Given the description of an element on the screen output the (x, y) to click on. 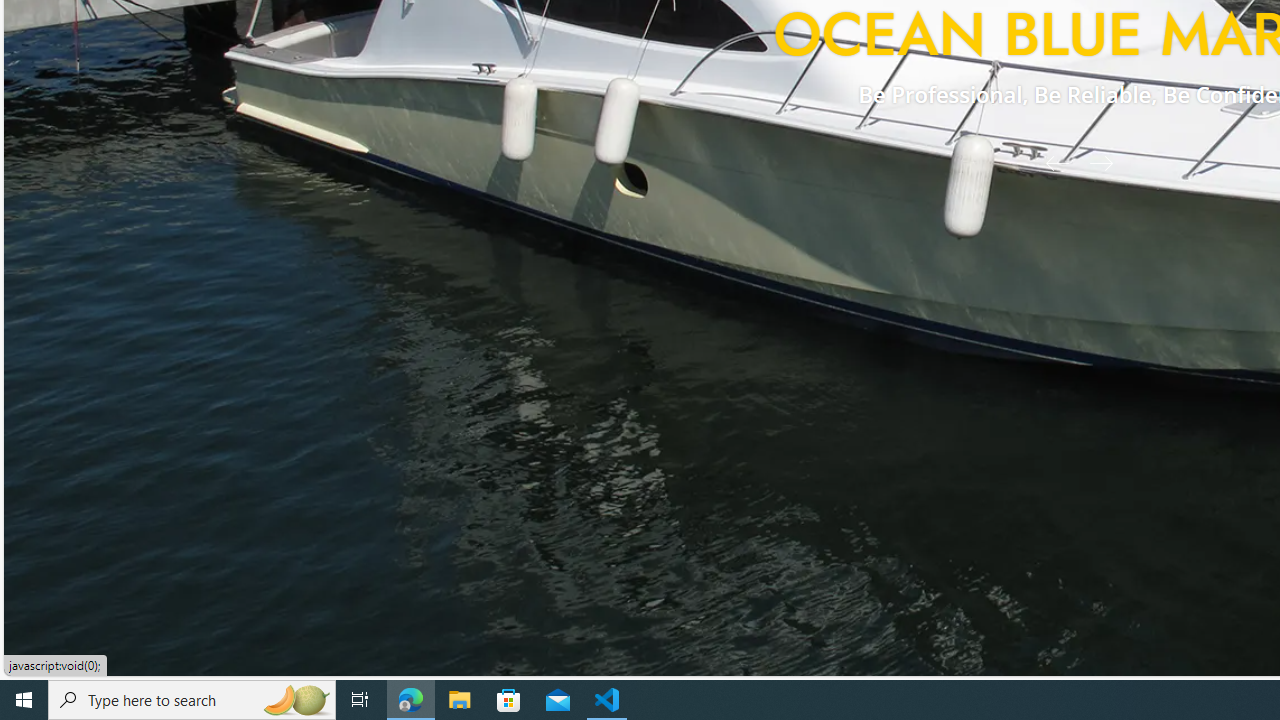
Previous Slide (1050, 161)
Next Slide (1108, 161)
